Given the description of an element on the screen output the (x, y) to click on. 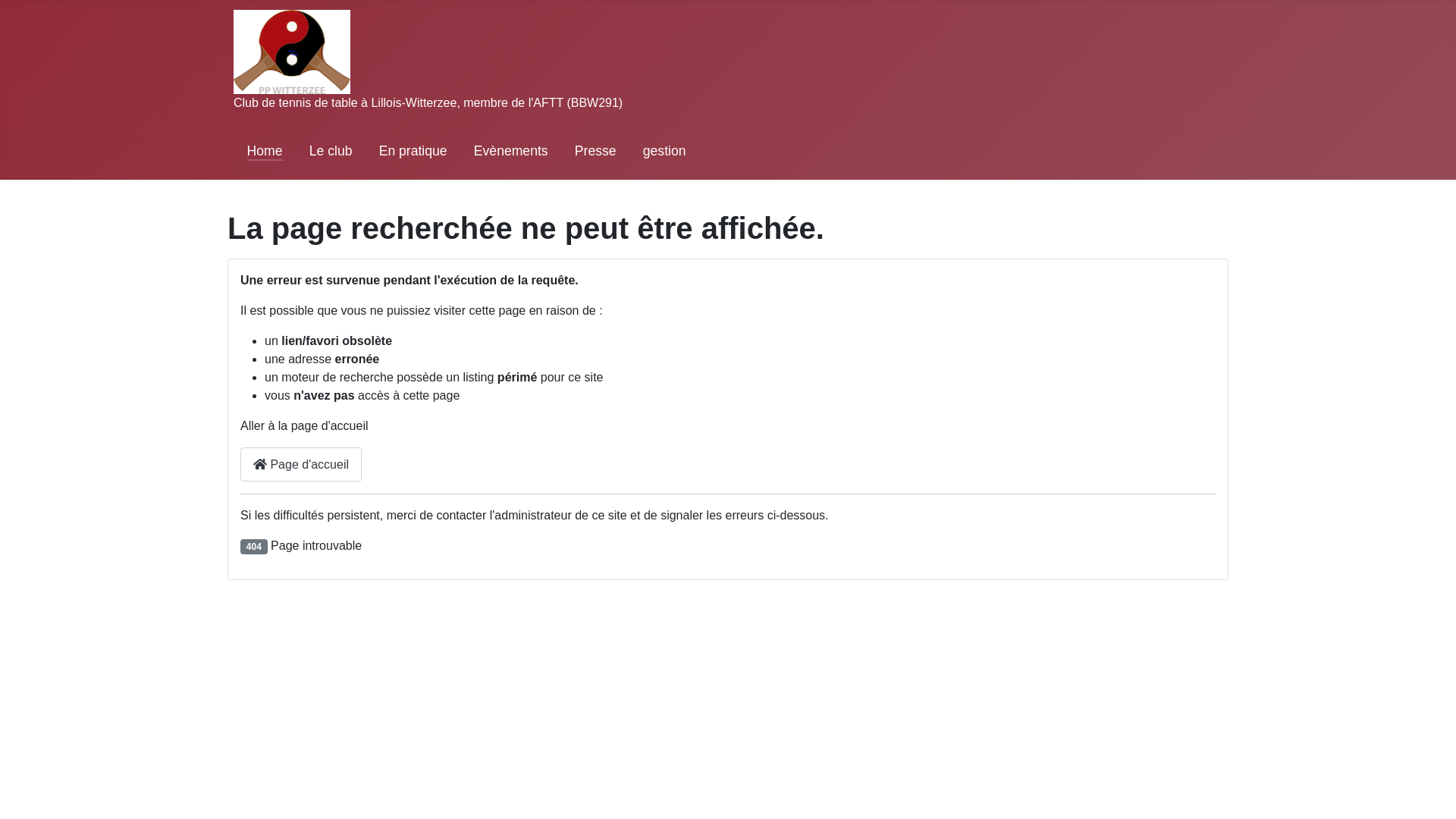
En pratique Element type: text (413, 150)
gestion Element type: text (664, 150)
Home Element type: text (264, 150)
Le club Element type: text (330, 150)
Page d'accueil Element type: text (300, 464)
Presse Element type: text (595, 150)
